Given the description of an element on the screen output the (x, y) to click on. 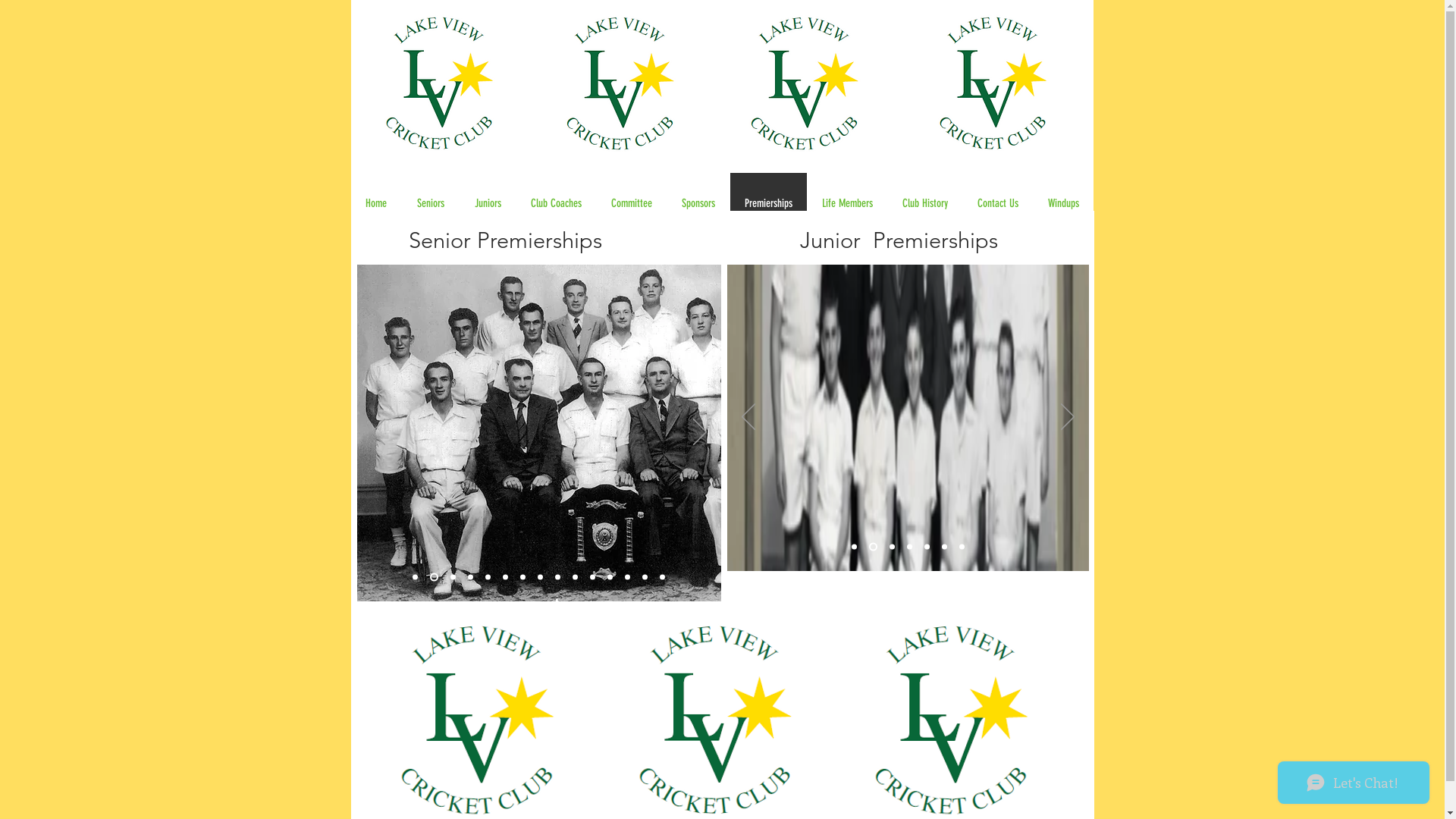
Premierships Element type: text (767, 203)
Seniors Element type: text (430, 203)
Windups Element type: text (1062, 203)
Contact Us Element type: text (996, 203)
Club History Element type: text (924, 203)
Committee Element type: text (631, 203)
Club Coaches Element type: text (555, 203)
Home Element type: text (375, 203)
Juniors Element type: text (487, 203)
Life Members Element type: text (846, 203)
Sponsors Element type: text (696, 203)
